Given the description of an element on the screen output the (x, y) to click on. 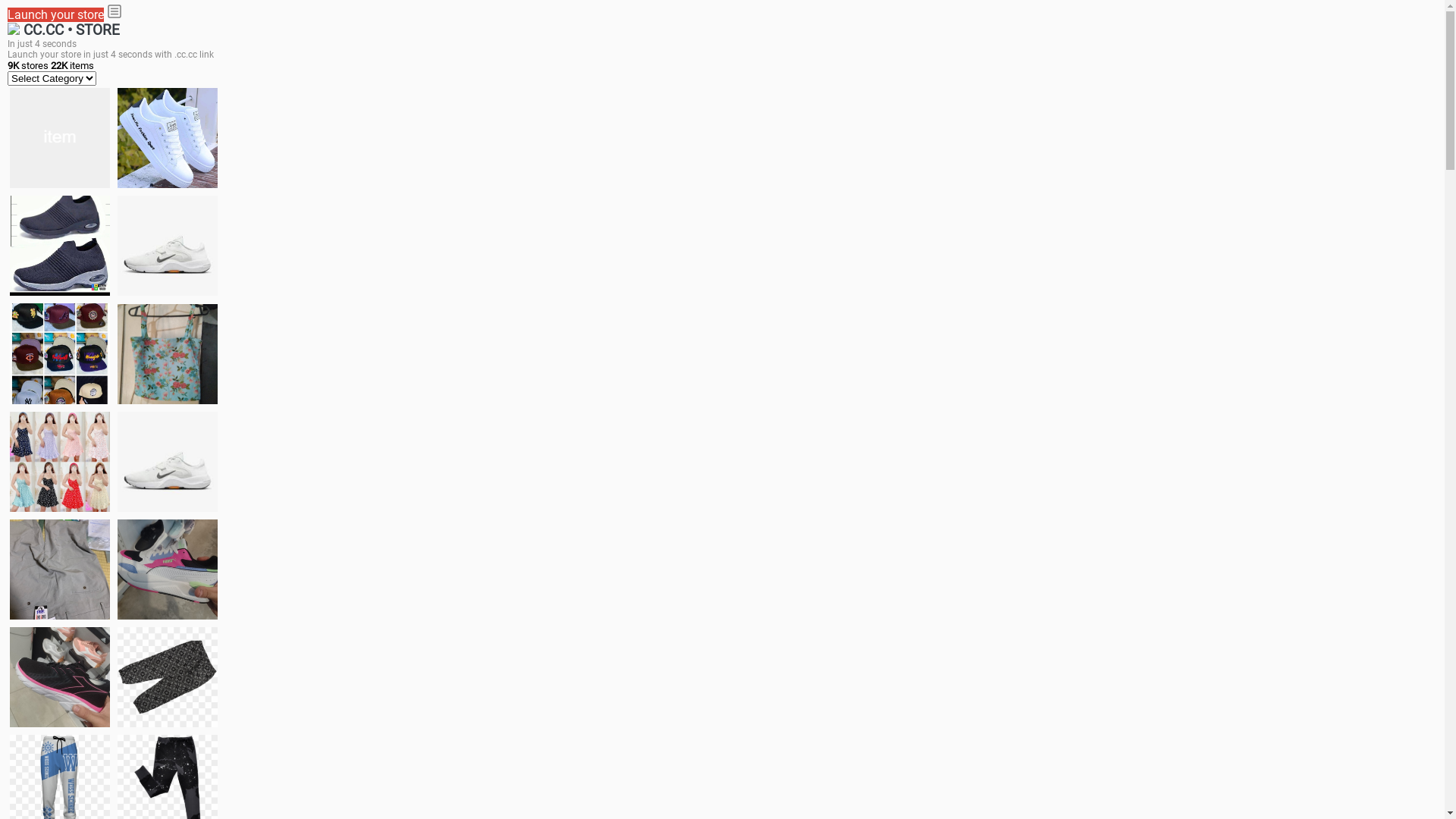
white shoes Element type: hover (167, 137)
Launch your store Element type: text (55, 14)
Shoes for boys Element type: hover (167, 245)
Short pant Element type: hover (167, 676)
shoes for boys Element type: hover (59, 245)
Shoes Element type: hover (167, 461)
Zapatillas Element type: hover (59, 677)
Zapatillas pumas Element type: hover (167, 568)
Dress/square nect top Element type: hover (59, 461)
jacket Element type: hover (59, 137)
Ukay cloth Element type: hover (167, 353)
Things we need Element type: hover (59, 353)
